Given the description of an element on the screen output the (x, y) to click on. 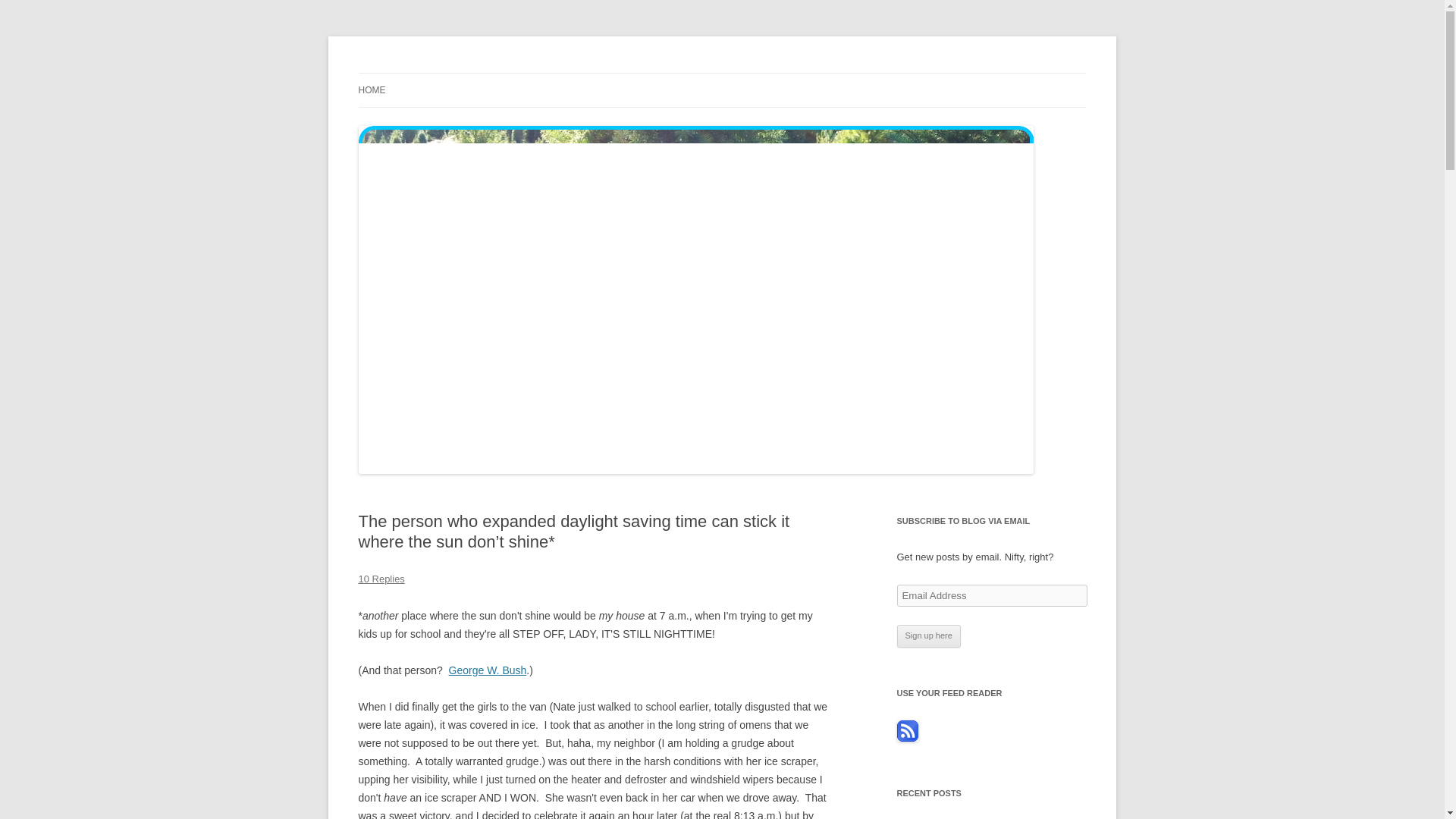
10 Replies (381, 578)
not-calm.com (422, 72)
George W. Bush (487, 670)
Subscribe to Posts (906, 737)
not-calm.com (422, 72)
Sign up here (927, 635)
